Given the description of an element on the screen output the (x, y) to click on. 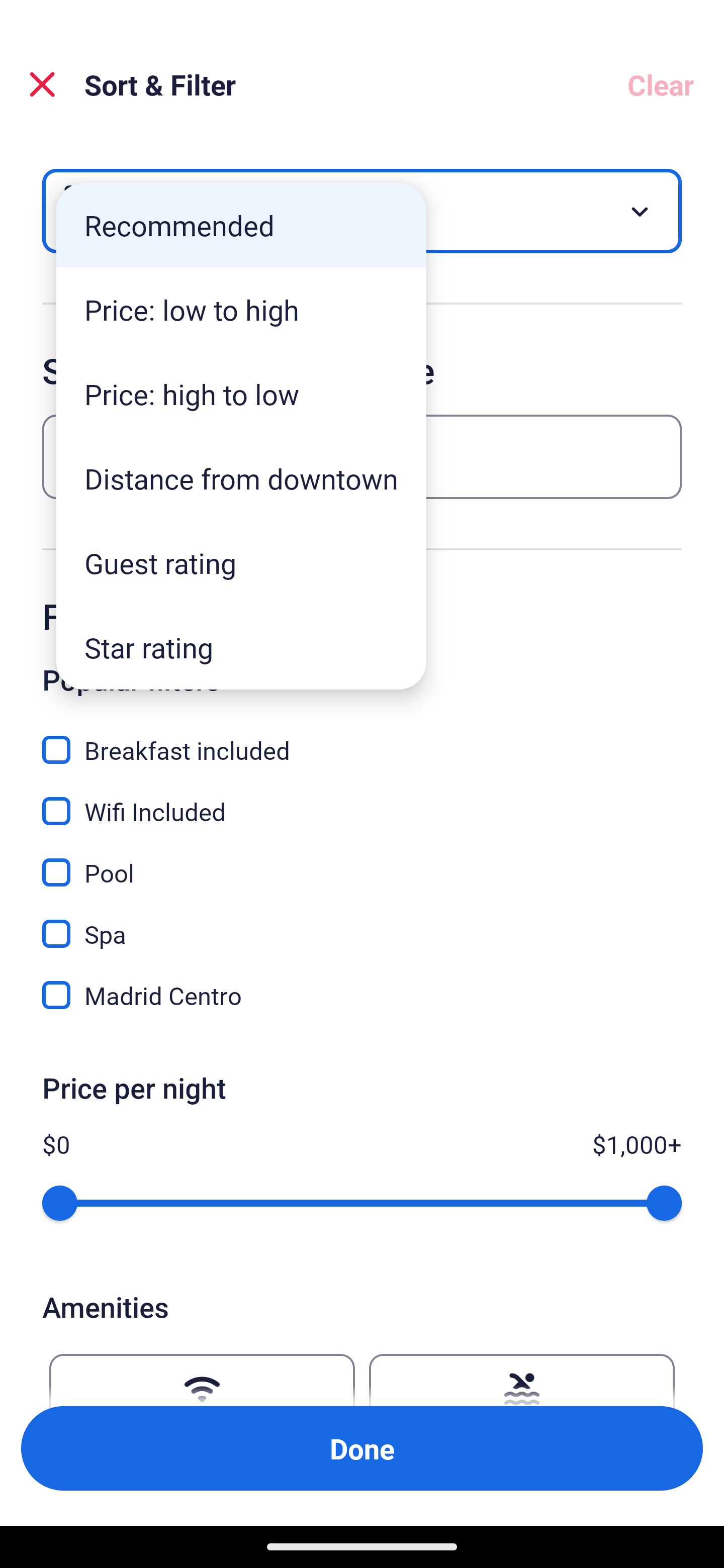
Price: low to high (241, 309)
Price: high to low (241, 393)
Distance from downtown (241, 477)
Guest rating (241, 562)
Star rating (241, 647)
